Given the description of an element on the screen output the (x, y) to click on. 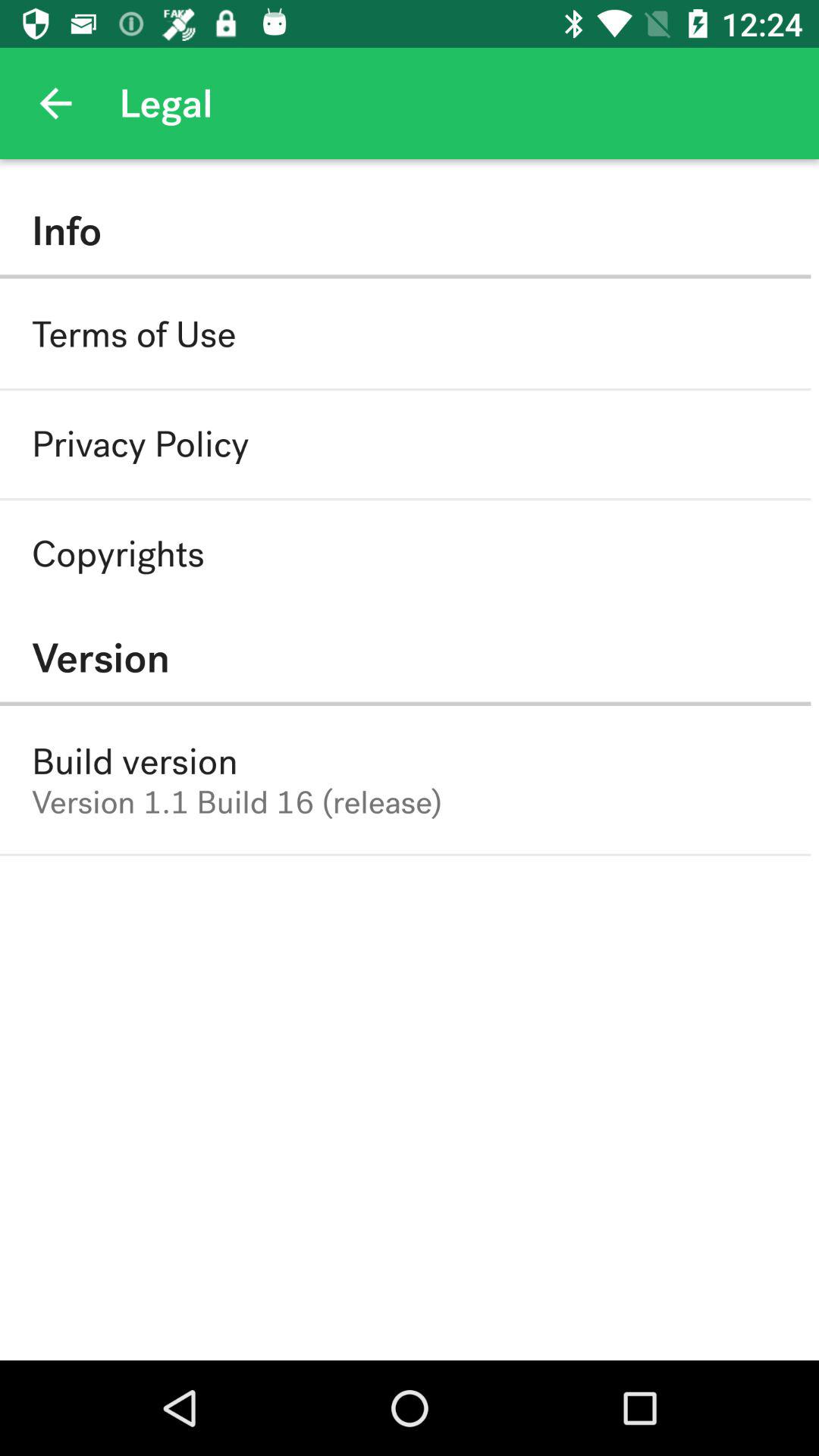
open icon above privacy policy icon (133, 334)
